Given the description of an element on the screen output the (x, y) to click on. 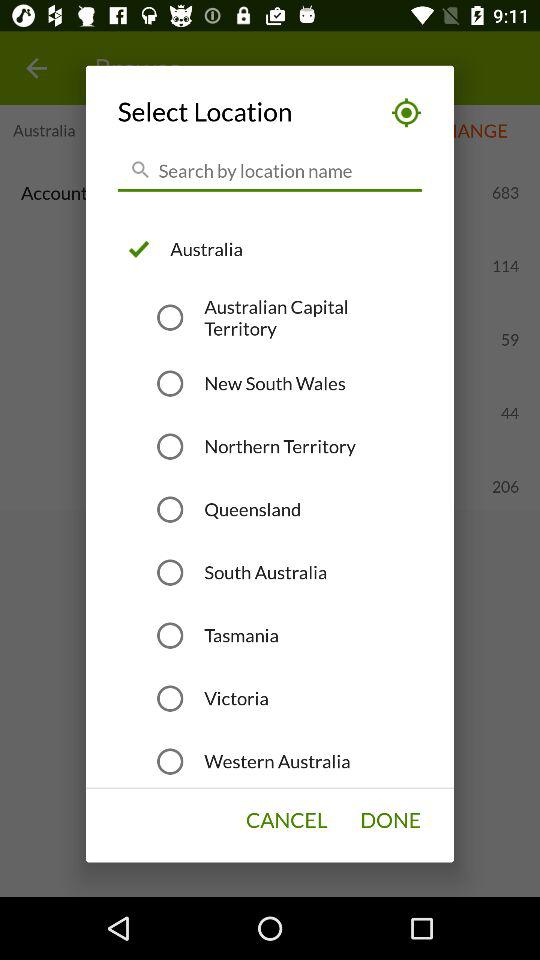
turn off the icon below the australian capital territory icon (274, 383)
